Given the description of an element on the screen output the (x, y) to click on. 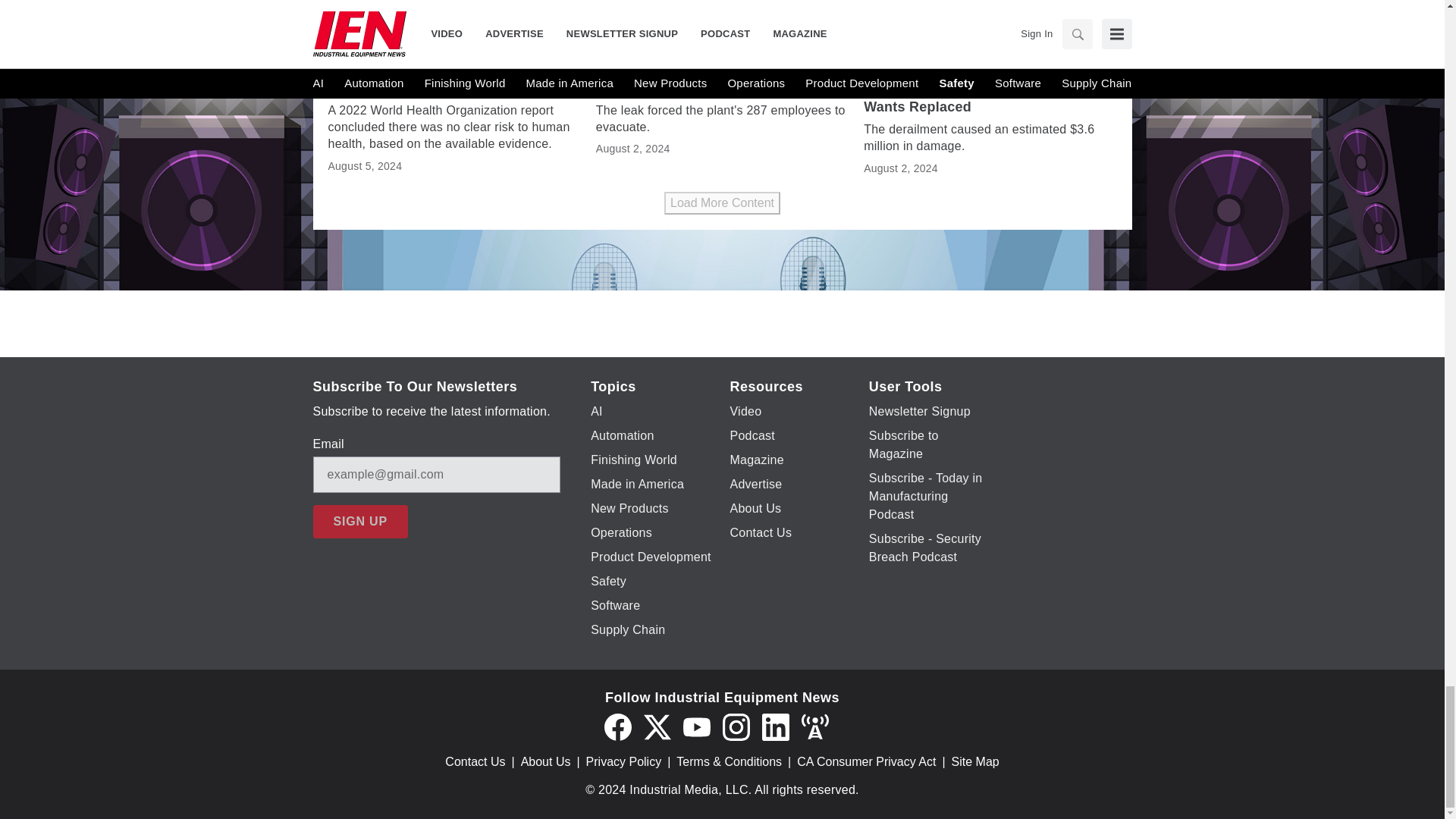
Twitter X icon (656, 727)
Instagram icon (735, 727)
LinkedIn icon (775, 727)
Facebook icon (617, 727)
YouTube icon (696, 727)
